Given the description of an element on the screen output the (x, y) to click on. 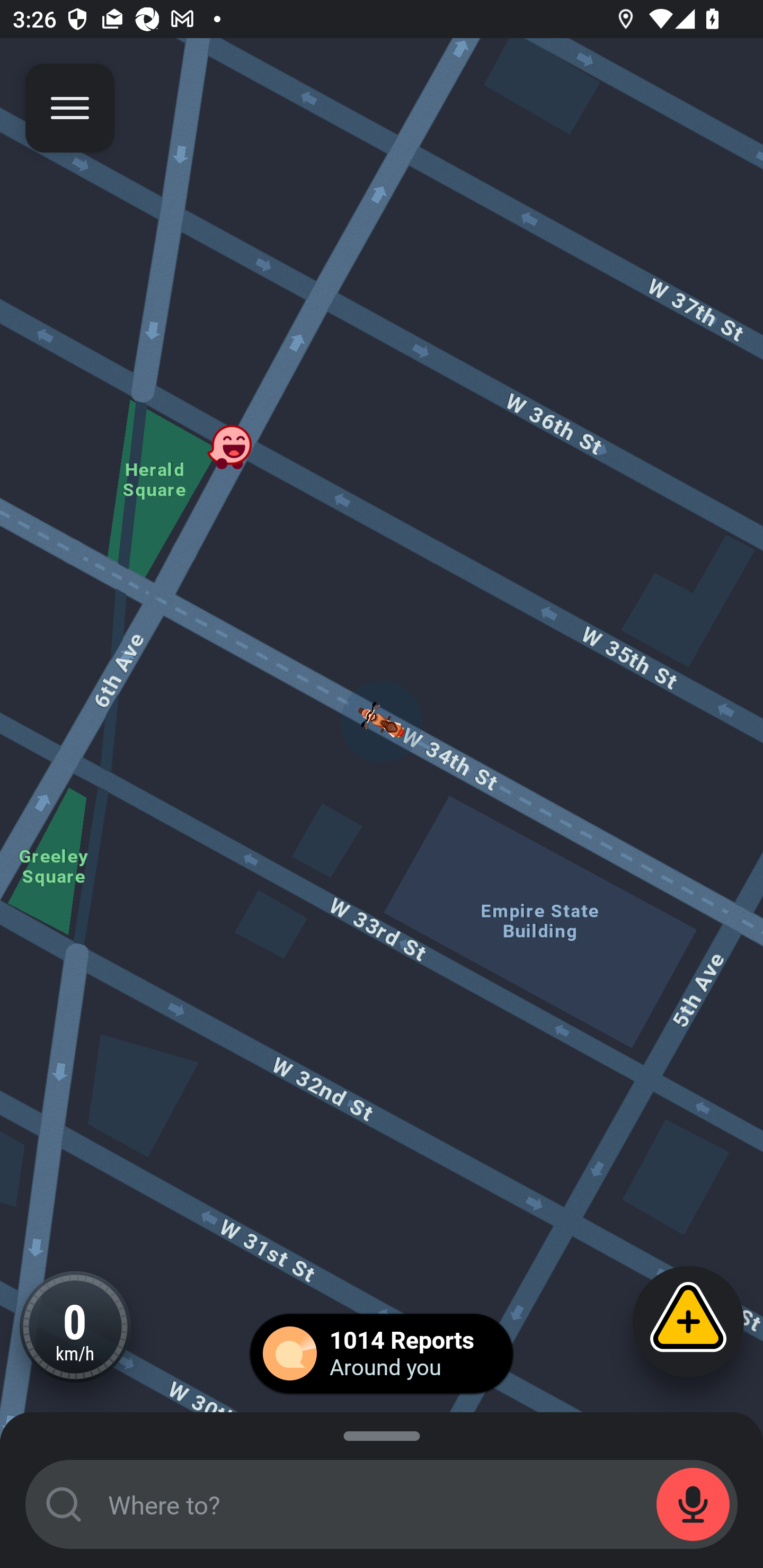
SUGGESTIONS_SHEET_DRAG_HANDLE (381, 1432)
START_STATE_SEARCH_FIELD Where to? (381, 1504)
